Given the description of an element on the screen output the (x, y) to click on. 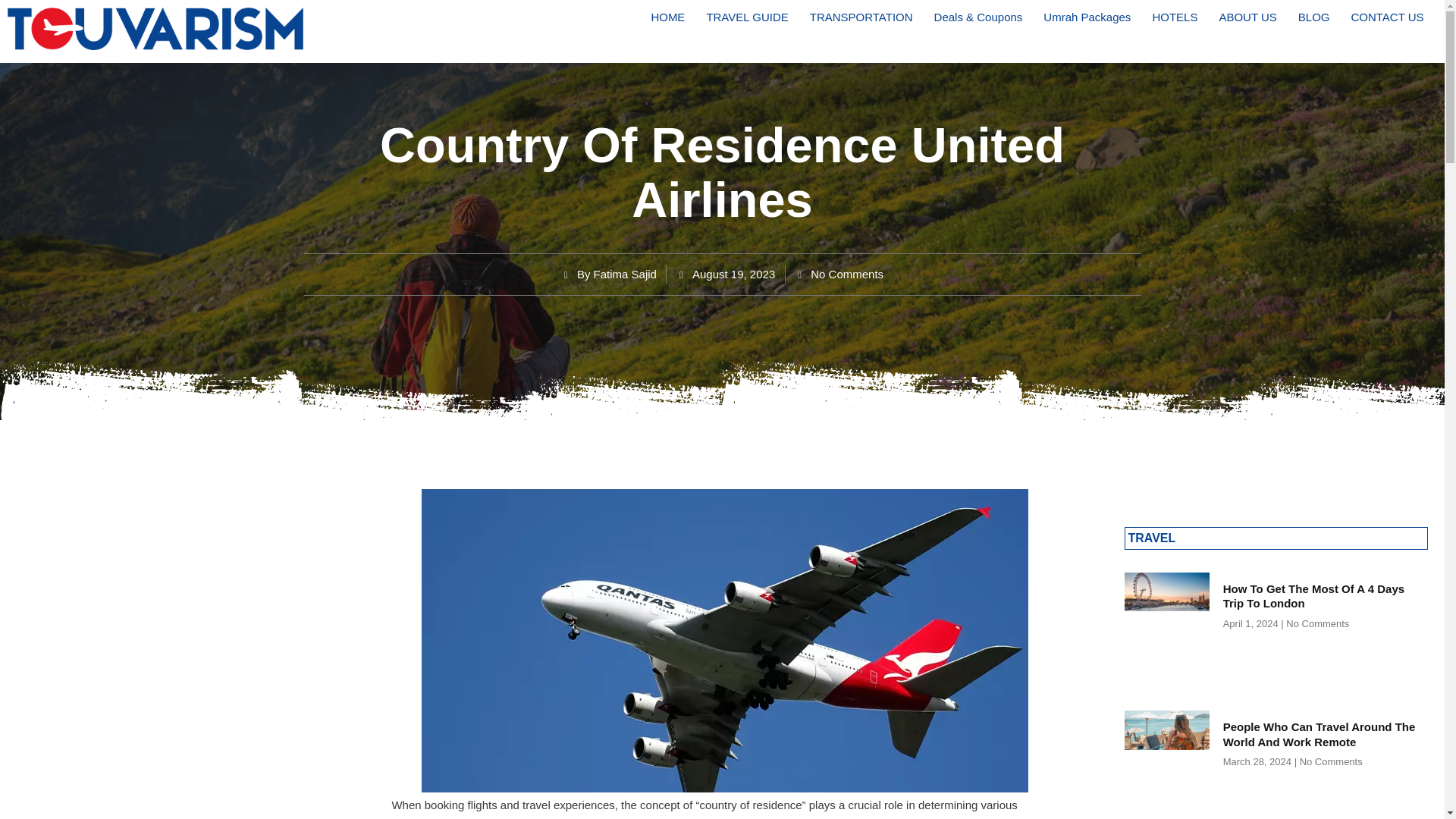
CONTACT US (1386, 17)
TRAVEL GUIDE (746, 17)
TRANSPORTATION (861, 17)
HOME (667, 17)
BLOG (1313, 17)
ABOUT US (1247, 17)
Umrah Packages (1086, 17)
HOTELS (1174, 17)
